Given the description of an element on the screen output the (x, y) to click on. 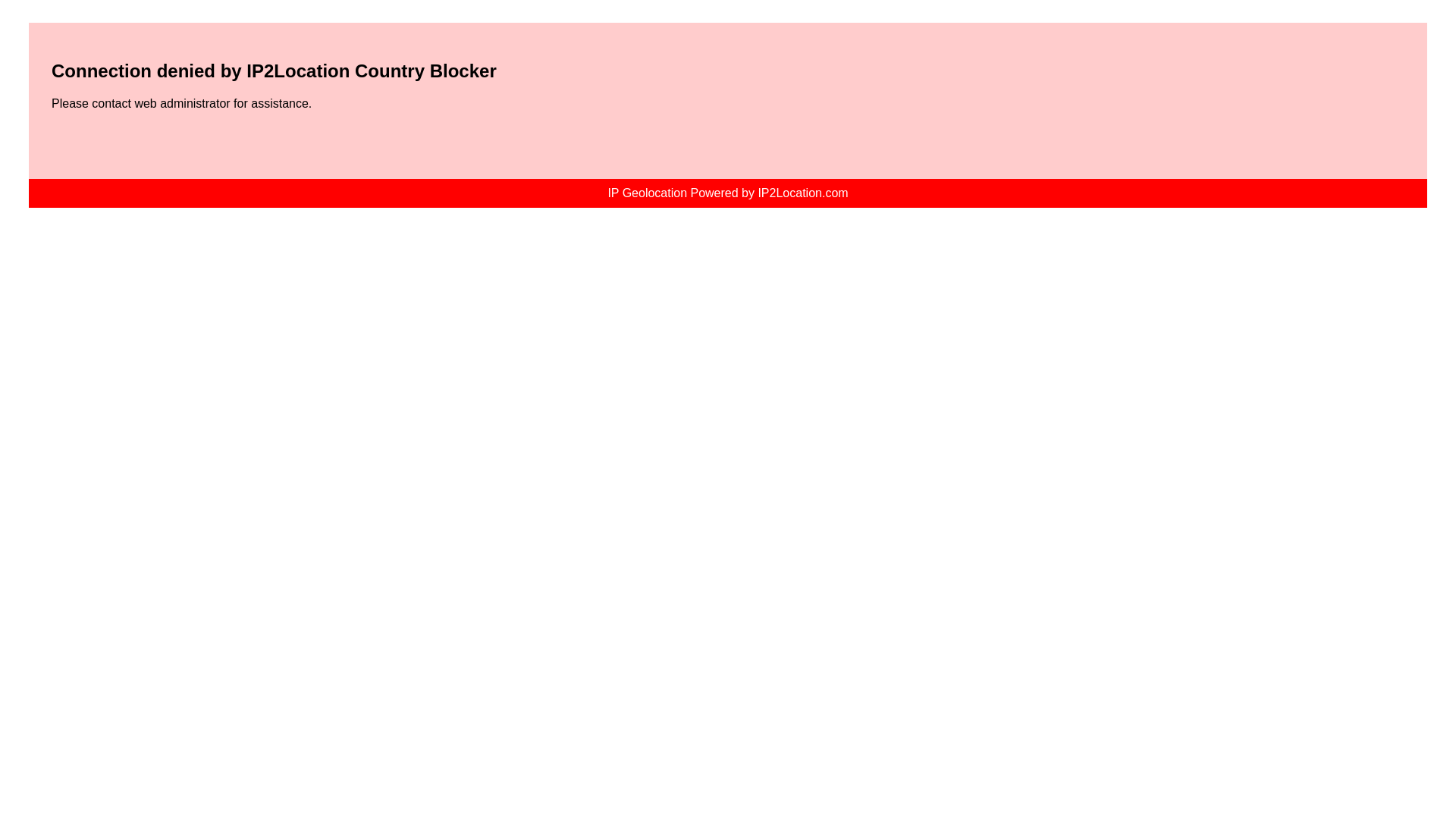
IP Geolocation Powered by IP2Location.com (727, 192)
